Given the description of an element on the screen output the (x, y) to click on. 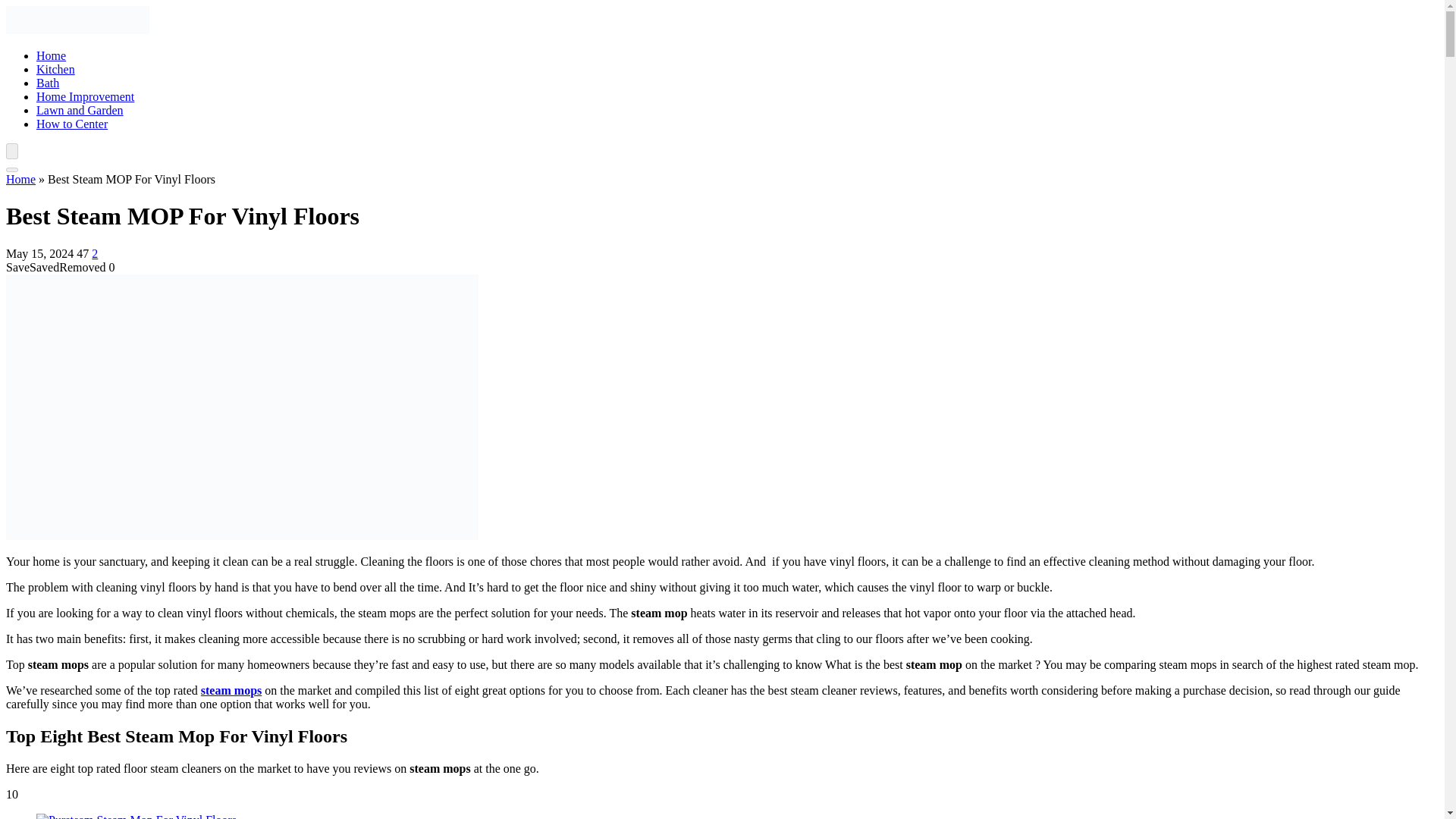
Bath (47, 82)
2 (94, 253)
Home Improvement (84, 96)
Lawn and Garden (79, 110)
Home (19, 178)
Kitchen (55, 69)
How to Center (71, 123)
Home (50, 55)
steam mops (231, 689)
